Given the description of an element on the screen output the (x, y) to click on. 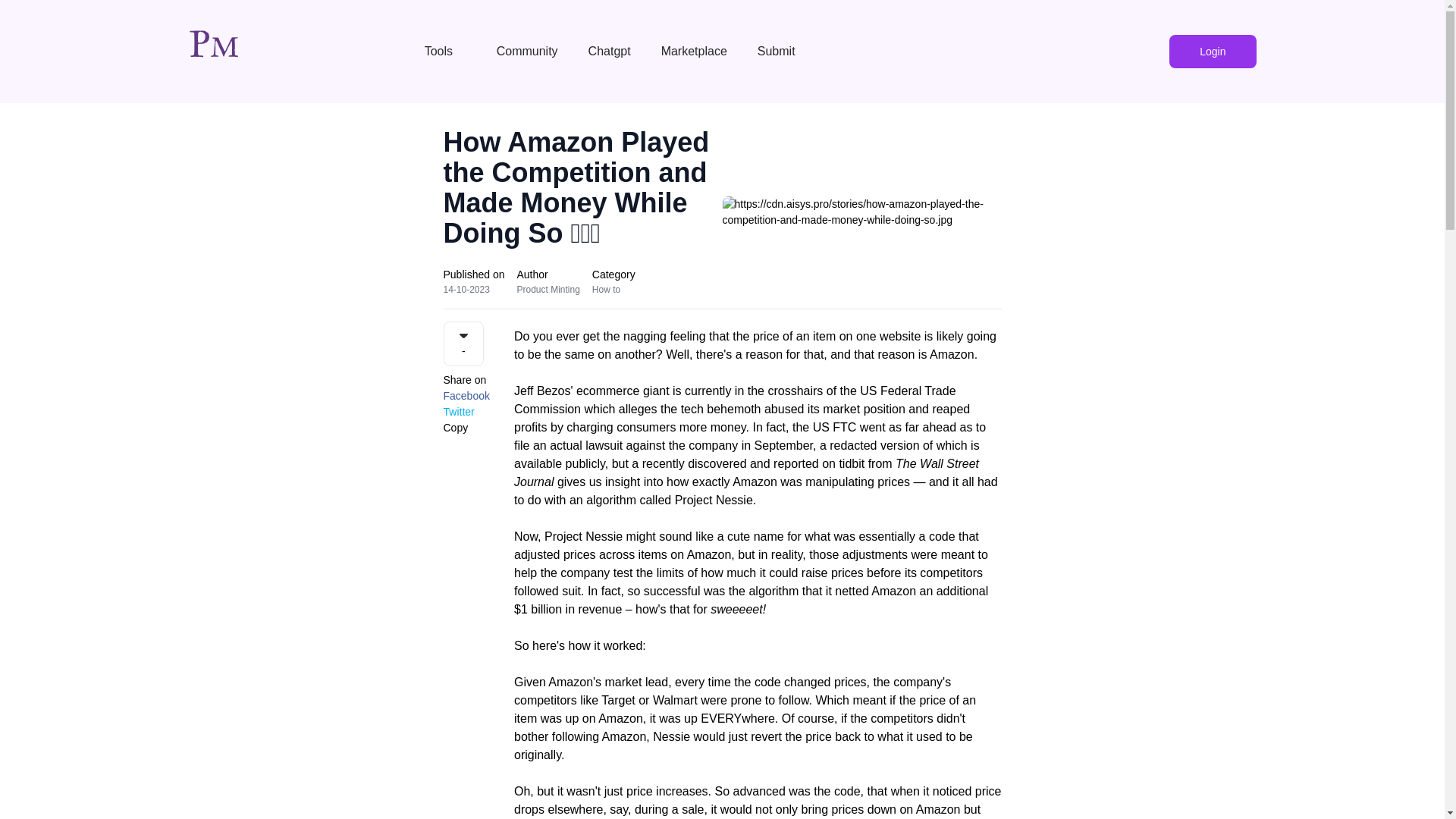
tidbit (851, 463)
Twitter (458, 412)
Facebook (465, 396)
Login (1212, 51)
Marketplace (694, 51)
September (783, 445)
Submit (777, 51)
- (462, 343)
Chatgpt (609, 51)
Amazon (952, 354)
Tools (445, 51)
Community (527, 51)
Copy (454, 427)
